Given the description of an element on the screen output the (x, y) to click on. 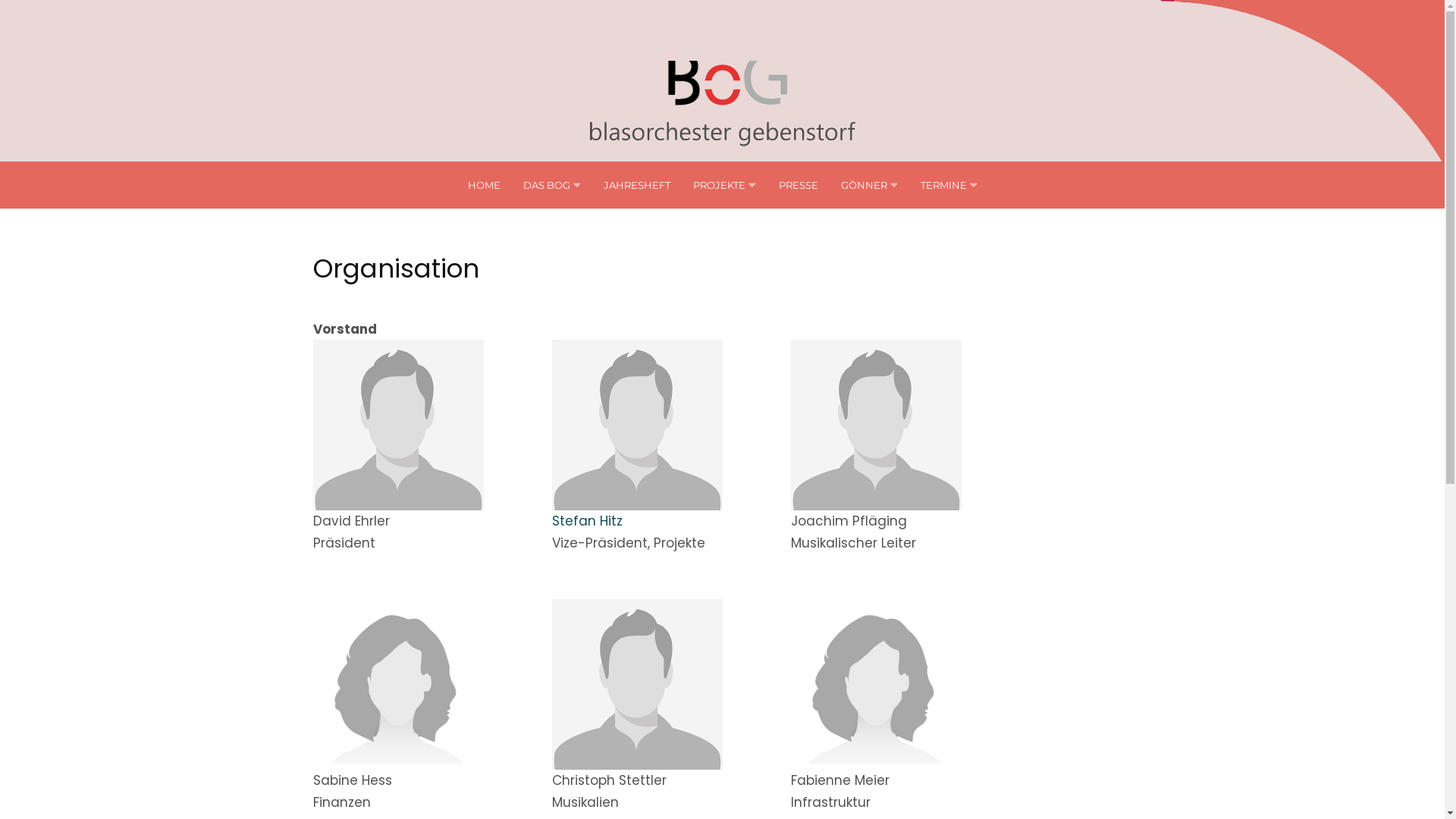
PRESSE Element type: text (797, 184)
PROJEKTE Element type: text (719, 184)
Stefan Hitz Element type: text (587, 520)
DAS BOG Element type: text (546, 184)
HOME Element type: text (483, 184)
JAHRESHEFT Element type: text (636, 184)
TERMINE Element type: text (943, 184)
